Given the description of an element on the screen output the (x, y) to click on. 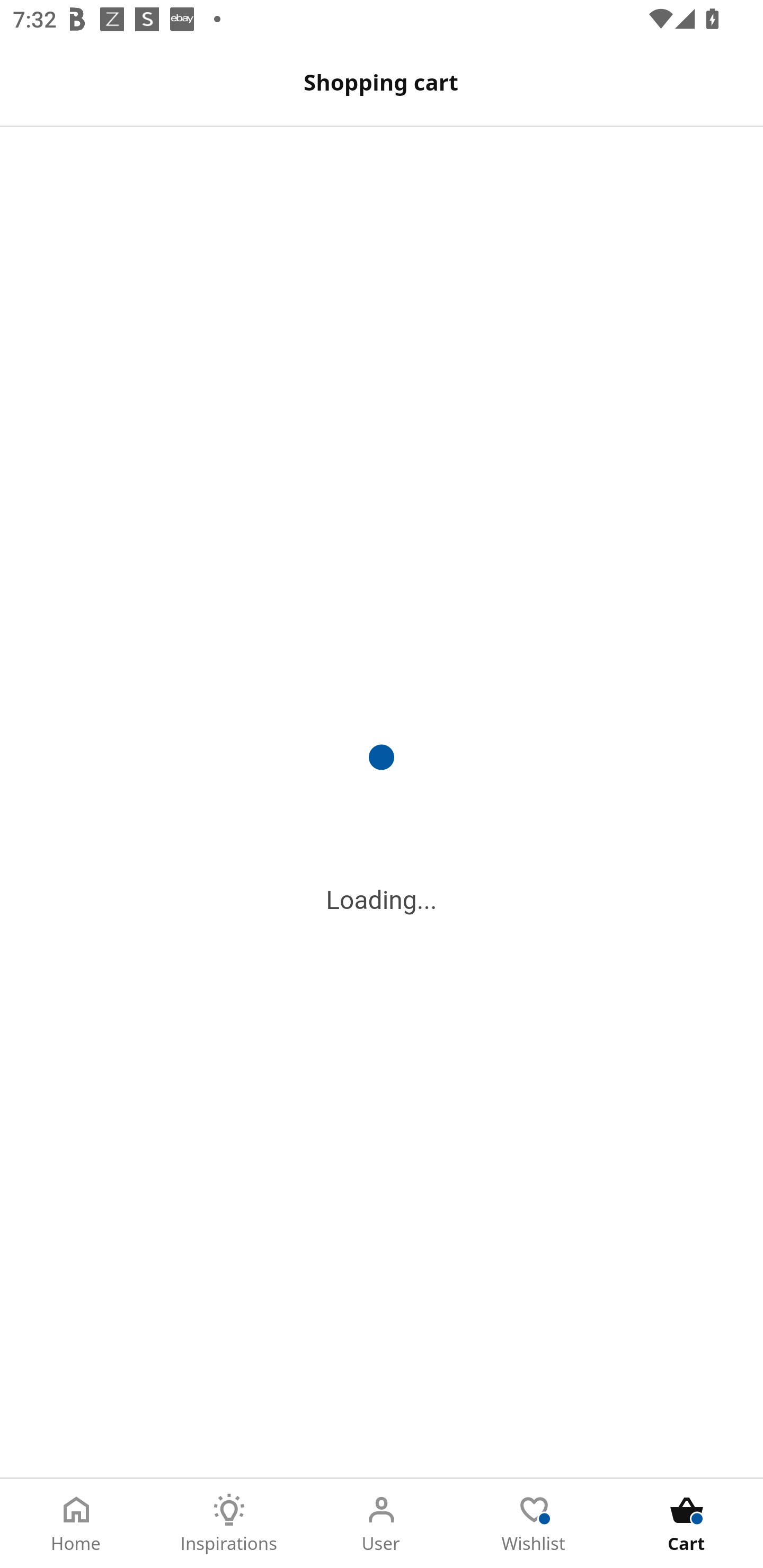
Home
Tab 1 of 5 (76, 1522)
Inspirations
Tab 2 of 5 (228, 1522)
User
Tab 3 of 5 (381, 1522)
Wishlist
Tab 4 of 5 (533, 1522)
Cart
Tab 5 of 5 (686, 1522)
